Given the description of an element on the screen output the (x, y) to click on. 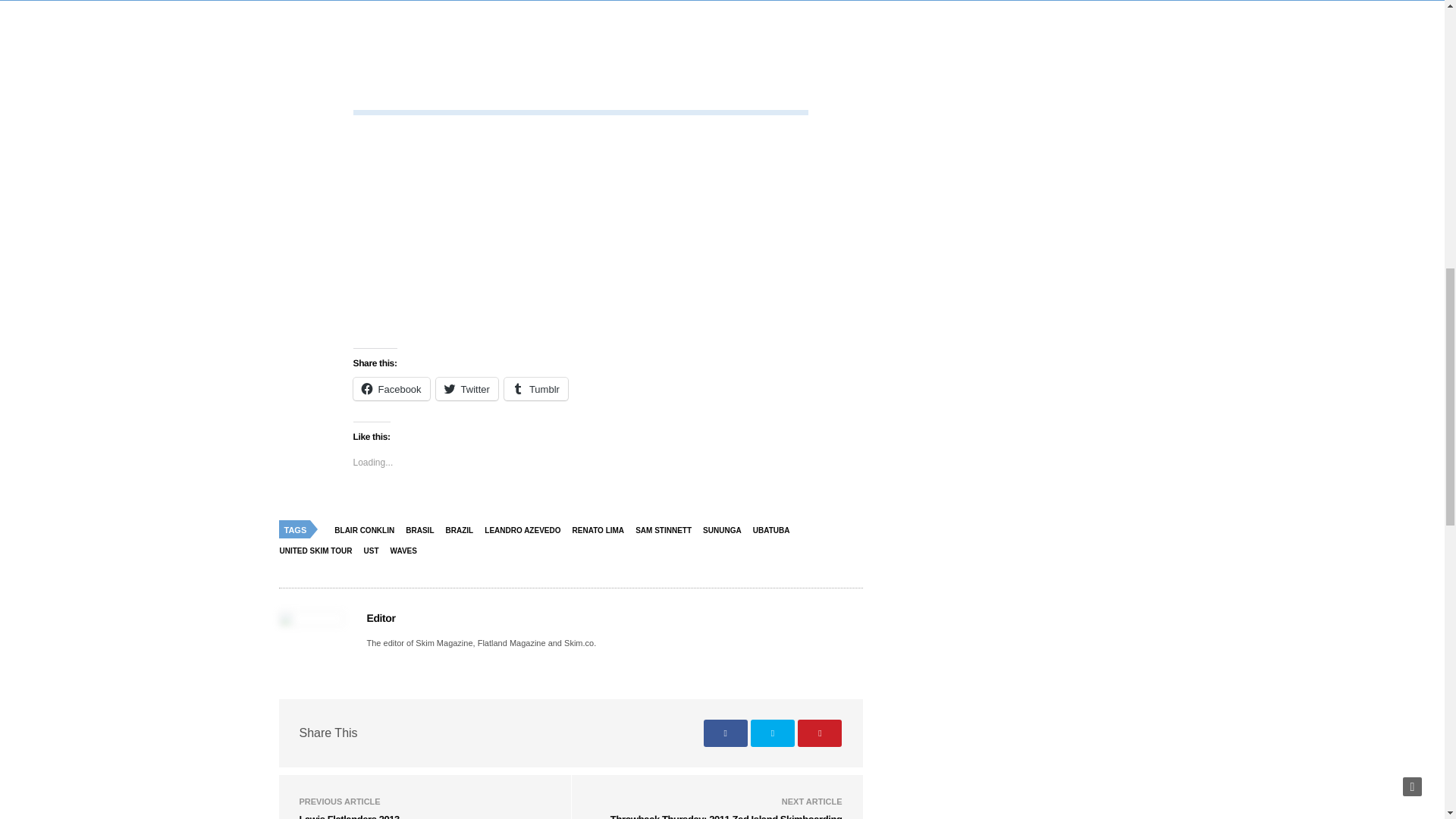
BRAZIL (463, 530)
BRASIL (423, 530)
Tumblr (535, 388)
Click to share on Facebook (391, 388)
BLAIR CONKLIN (368, 530)
Click to share on Twitter (466, 388)
Facebook (391, 388)
Click to share on Tumblr (535, 388)
Twitter (466, 388)
